Given the description of an element on the screen output the (x, y) to click on. 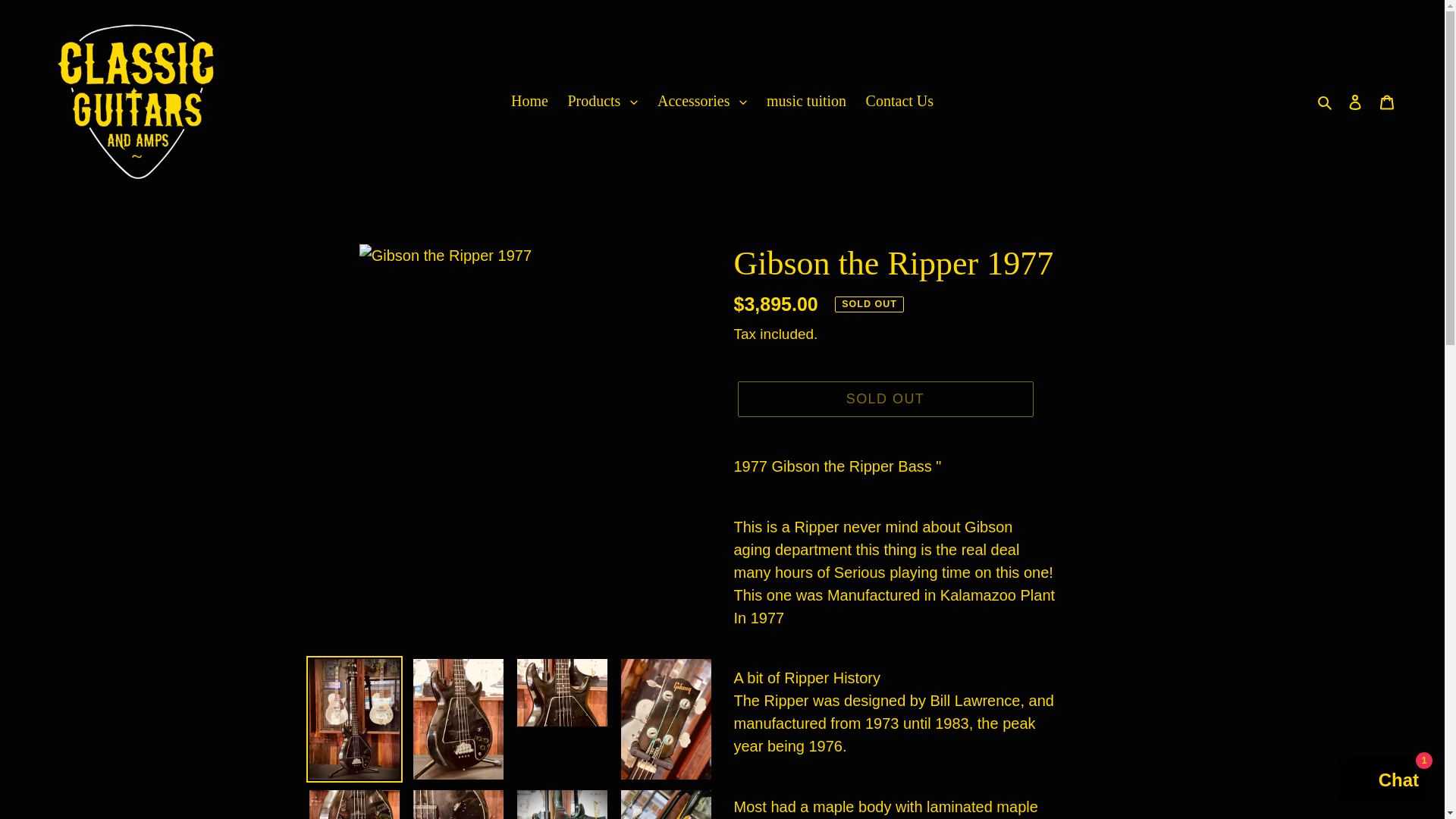
Accessories (702, 100)
music tuition (805, 100)
Log in (1355, 100)
Search (1326, 100)
Products (602, 100)
Home (529, 100)
Cart (1387, 100)
Shopify online store chat (1383, 781)
Contact Us (899, 100)
